Given the description of an element on the screen output the (x, y) to click on. 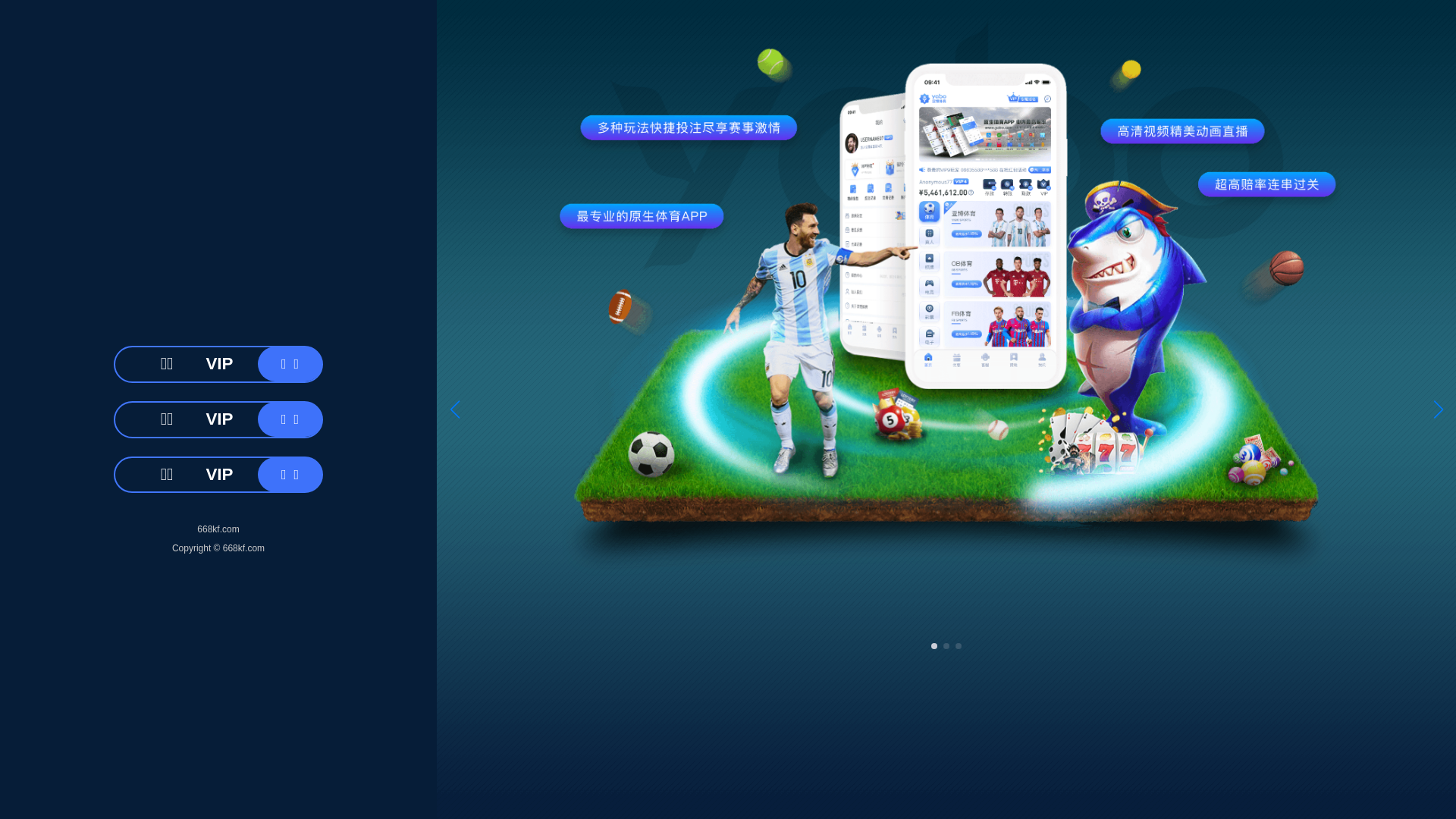
2 Element type: text (735, 690)
1 Element type: text (720, 690)
Previous Element type: text (64, 368)
Next Element type: text (1391, 368)
